Given the description of an element on the screen output the (x, y) to click on. 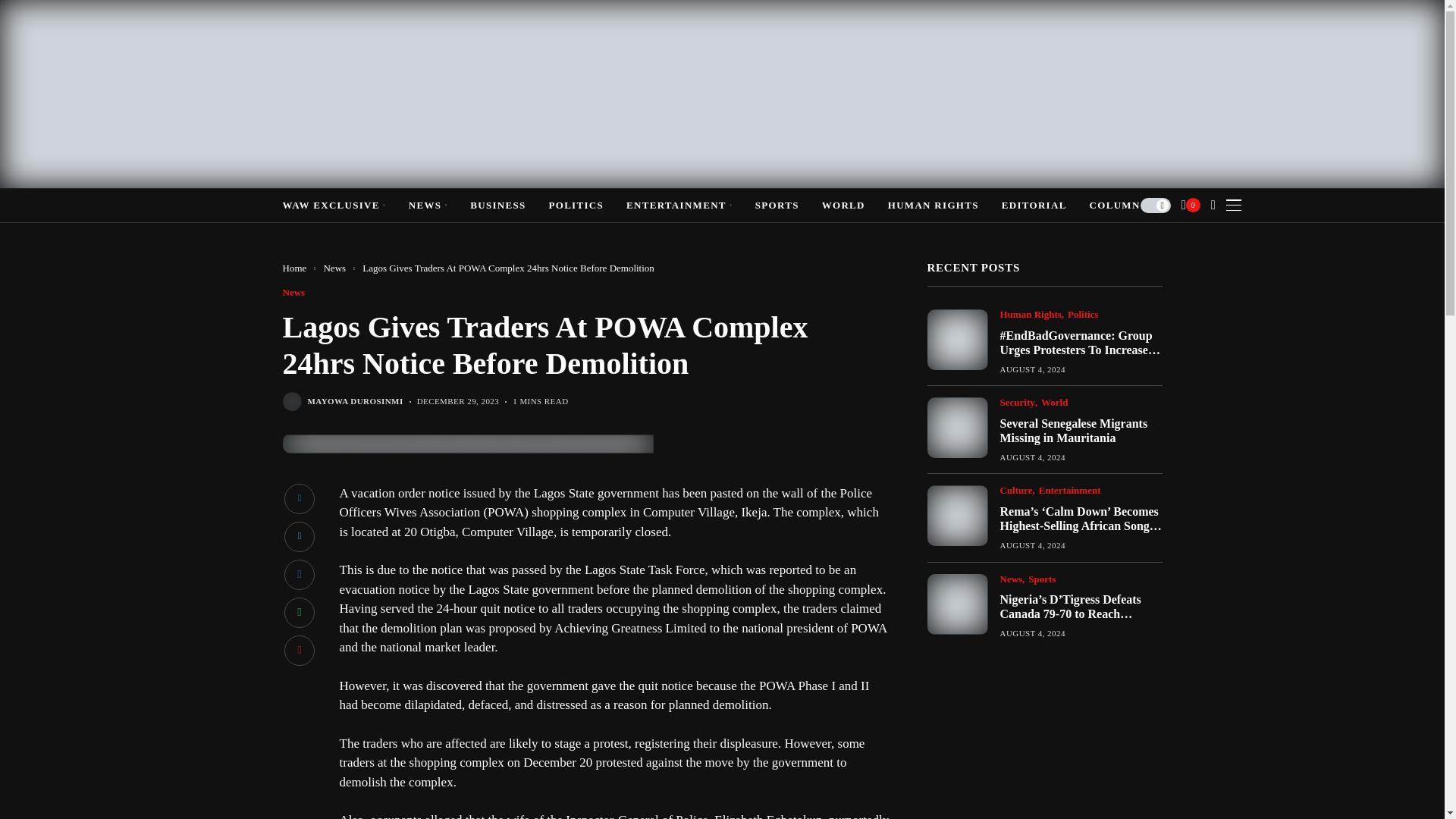
Posts by Mayowa Durosinmi (355, 401)
NEWS (427, 204)
WORLD (843, 204)
POLITICS (576, 204)
HUMAN RIGHTS (933, 204)
SPORTS (777, 204)
ENTERTAINMENT (679, 204)
COLUMN (1114, 204)
WAW EXCLUSIVE (333, 204)
BUSINESS (497, 204)
EDITORIAL (1034, 204)
